Given the description of an element on the screen output the (x, y) to click on. 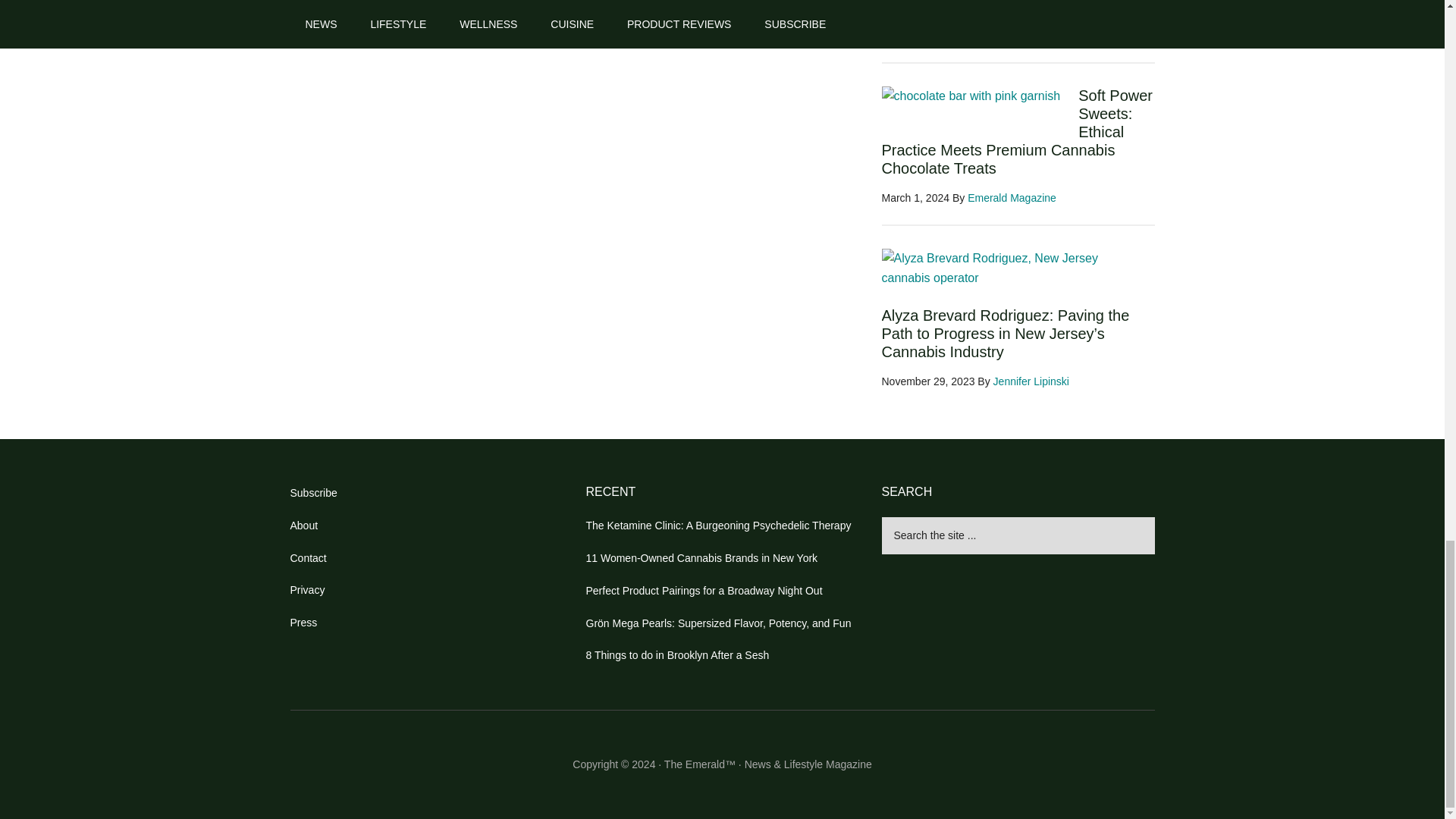
Jennifer Lipinski (1011, 34)
